Given the description of an element on the screen output the (x, y) to click on. 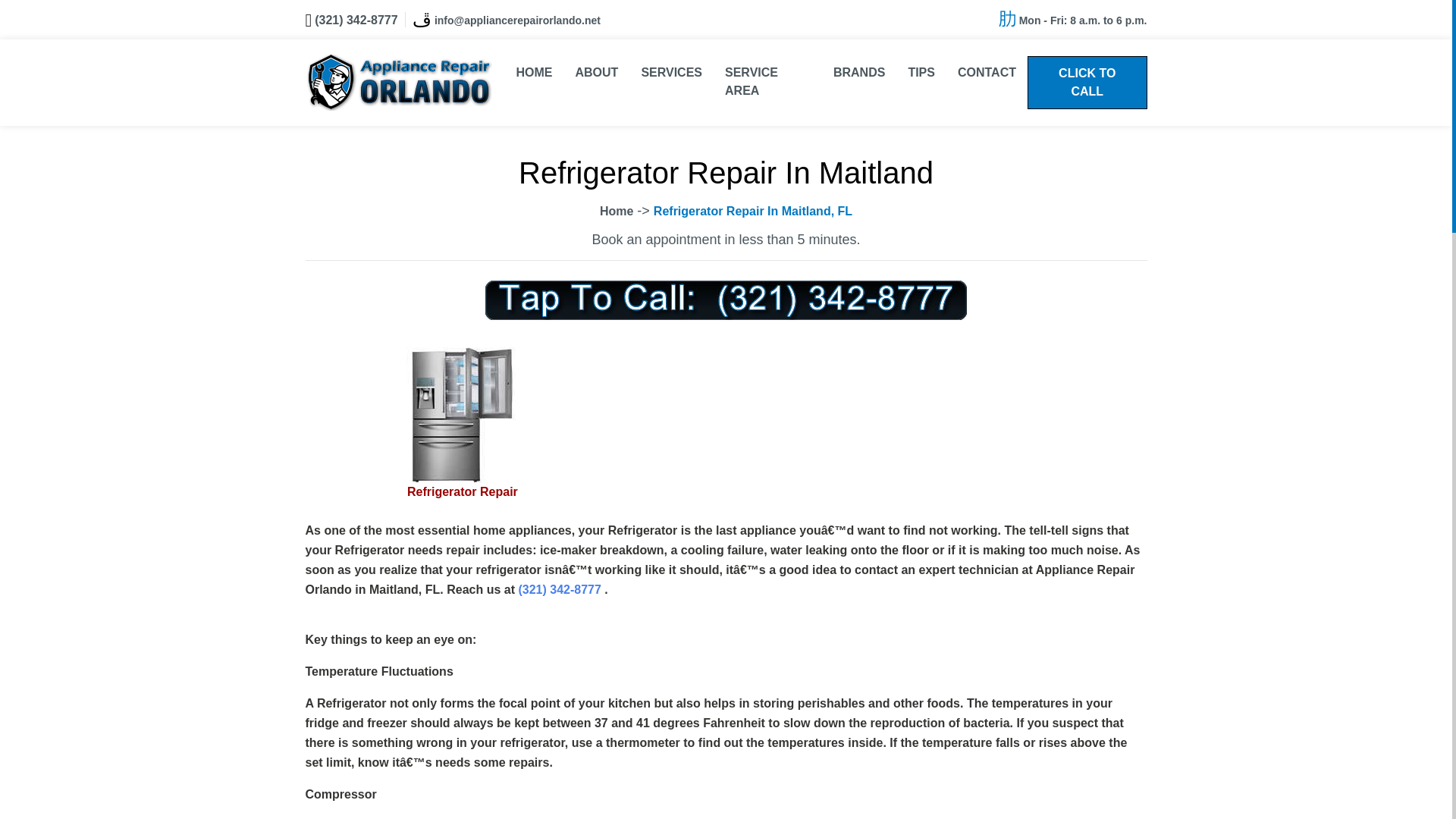
CLICK TO CALL (1087, 82)
SERVICES (670, 72)
HOME (534, 72)
SERVICE AREA (767, 81)
Refrigerator Repair (462, 491)
BRANDS (859, 72)
Refrigerator Repair In Maitland, FL (752, 210)
Home (616, 210)
ABOUT (597, 72)
TIPS (921, 72)
CONTACT (986, 72)
